Given the description of an element on the screen output the (x, y) to click on. 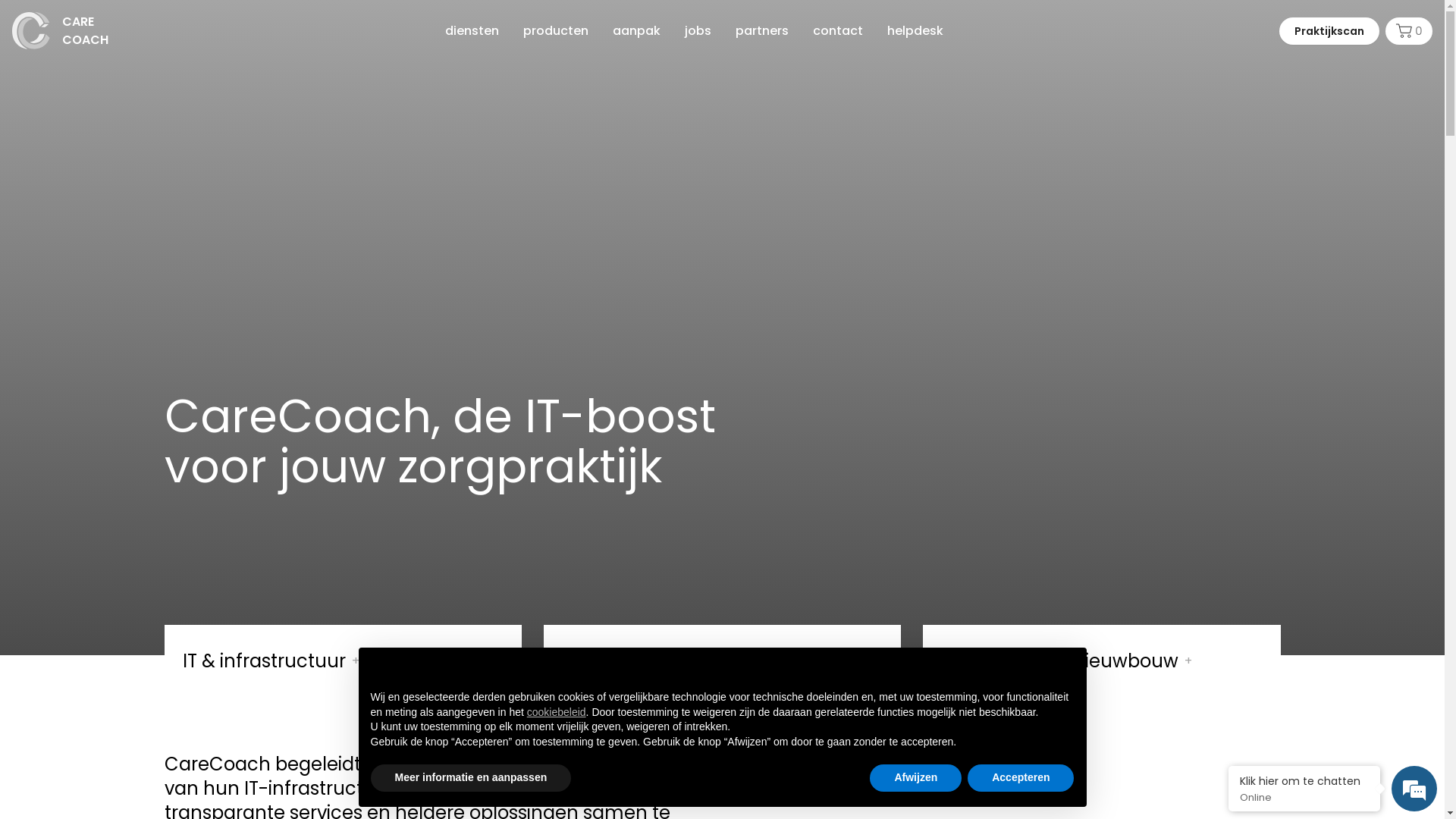
IT & infrastructuur
+ Element type: text (341, 657)
Gericht advies & coaching
+ Element type: text (721, 657)
Praktijkscan Element type: text (1329, 29)
CARE
COACH Element type: text (60, 30)
jobs Element type: text (697, 29)
aanpak Element type: text (636, 30)
helpdesk Element type: text (915, 29)
diensten Element type: text (471, 30)
cookiebeleid Element type: text (556, 712)
contact Element type: text (837, 29)
partners Element type: text (761, 29)
producten Element type: text (555, 29)
Meer informatie en aanpassen Element type: text (470, 777)
Verbouwing & nieuwbouw
+ Element type: text (1101, 657)
Afwijzen Element type: text (915, 777)
Accepteren Element type: text (1020, 777)
